Given the description of an element on the screen output the (x, y) to click on. 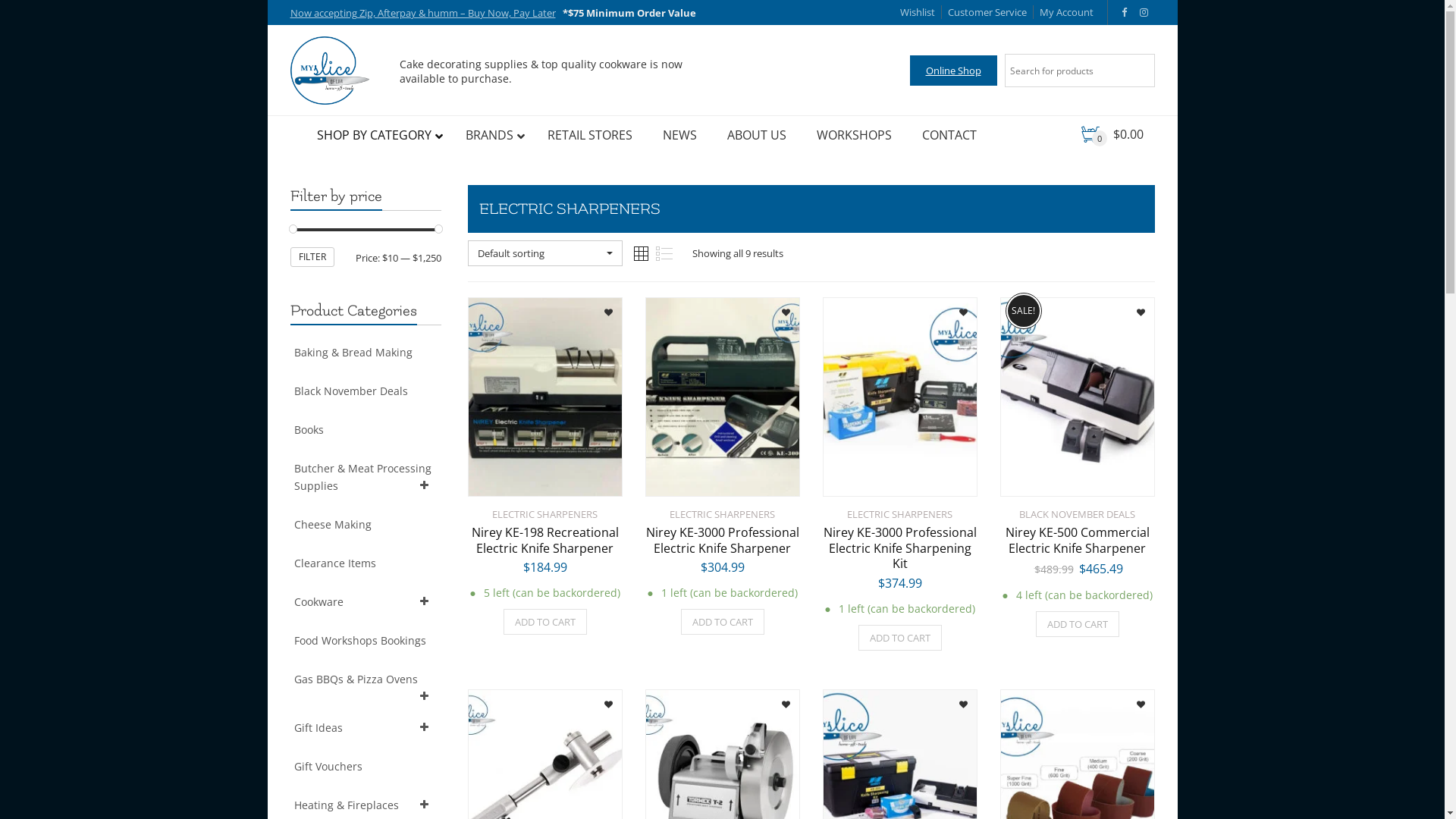
FILTER Element type: text (311, 256)
Gas BBQs & Pizza Ovens Element type: text (364, 678)
0
$0.00 Element type: text (1112, 134)
Gift Vouchers Element type: text (364, 765)
Wishlist Element type: text (916, 11)
Cheese Making Element type: text (364, 524)
Books Element type: text (364, 429)
ABOUT US Element type: text (755, 135)
ADD TO CART Element type: text (1077, 624)
NEWS Element type: text (679, 135)
Cookware Element type: text (364, 601)
ADD TO CART Element type: text (899, 637)
Gift Ideas Element type: text (364, 727)
My Account Element type: text (1062, 11)
Food Workshops Bookings Element type: text (364, 640)
Black November Deals Element type: text (364, 390)
Butcher & Meat Processing Supplies Element type: text (364, 476)
Clearance Items Element type: text (364, 562)
ADD TO CART Element type: text (544, 621)
WORKSHOPS Element type: text (853, 135)
Customer Service Element type: text (983, 11)
SHOP BY CATEGORY Element type: text (375, 135)
BRANDS Element type: text (491, 135)
Online Shop Element type: text (953, 70)
Default sorting
  Element type: text (544, 253)
Baking & Bread Making Element type: text (364, 351)
CONTACT Element type: text (948, 135)
RETAIL STORES Element type: text (589, 135)
ADD TO CART Element type: text (722, 621)
